Given the description of an element on the screen output the (x, y) to click on. 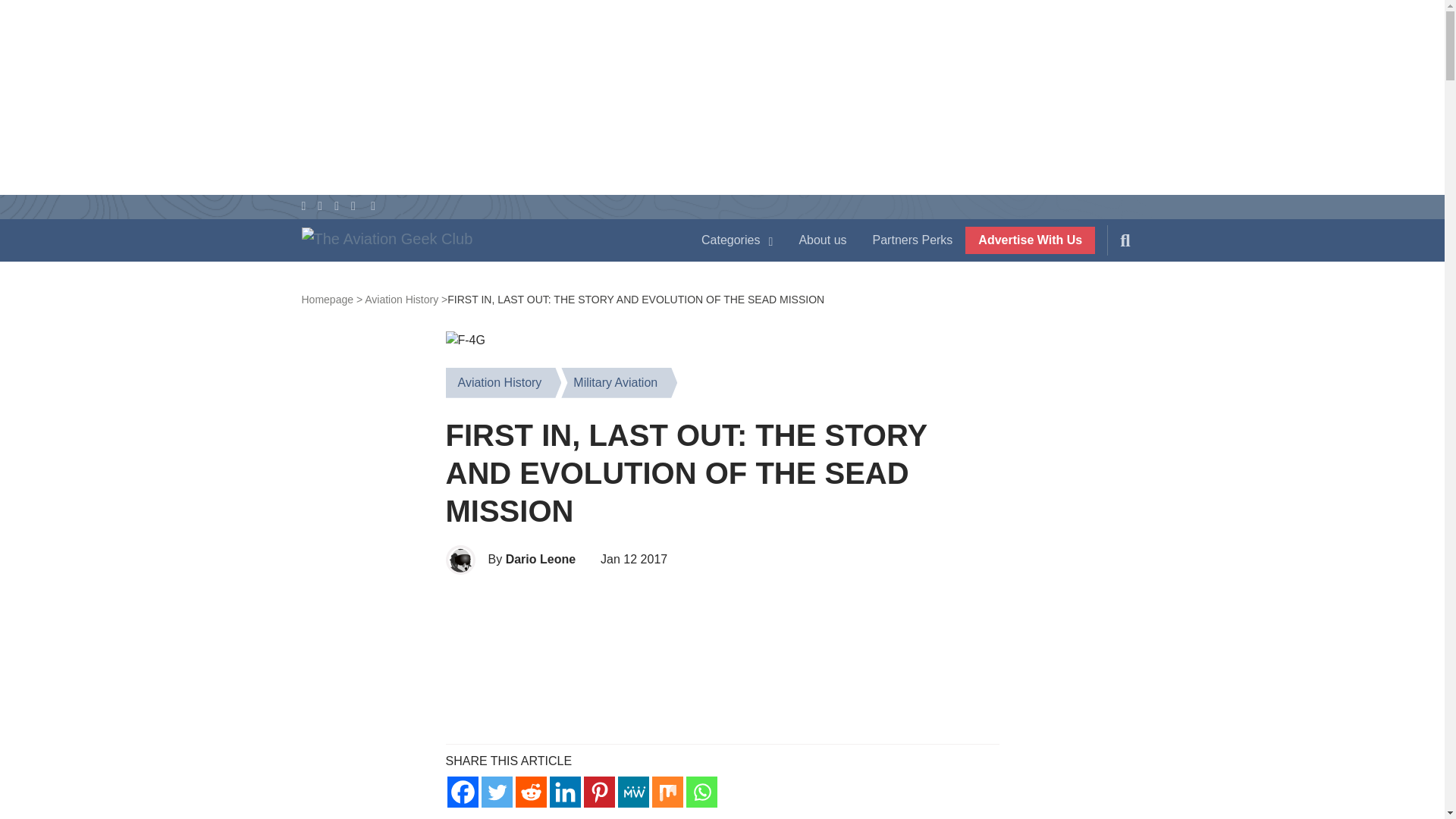
Back to homepage (331, 299)
Facebook (462, 791)
Categories (737, 239)
Twitter (496, 791)
Reddit (531, 791)
Back to Home (485, 242)
Advertise With Us (1029, 239)
F-4G (464, 340)
About us (822, 239)
Partners Perks (913, 239)
